Given the description of an element on the screen output the (x, y) to click on. 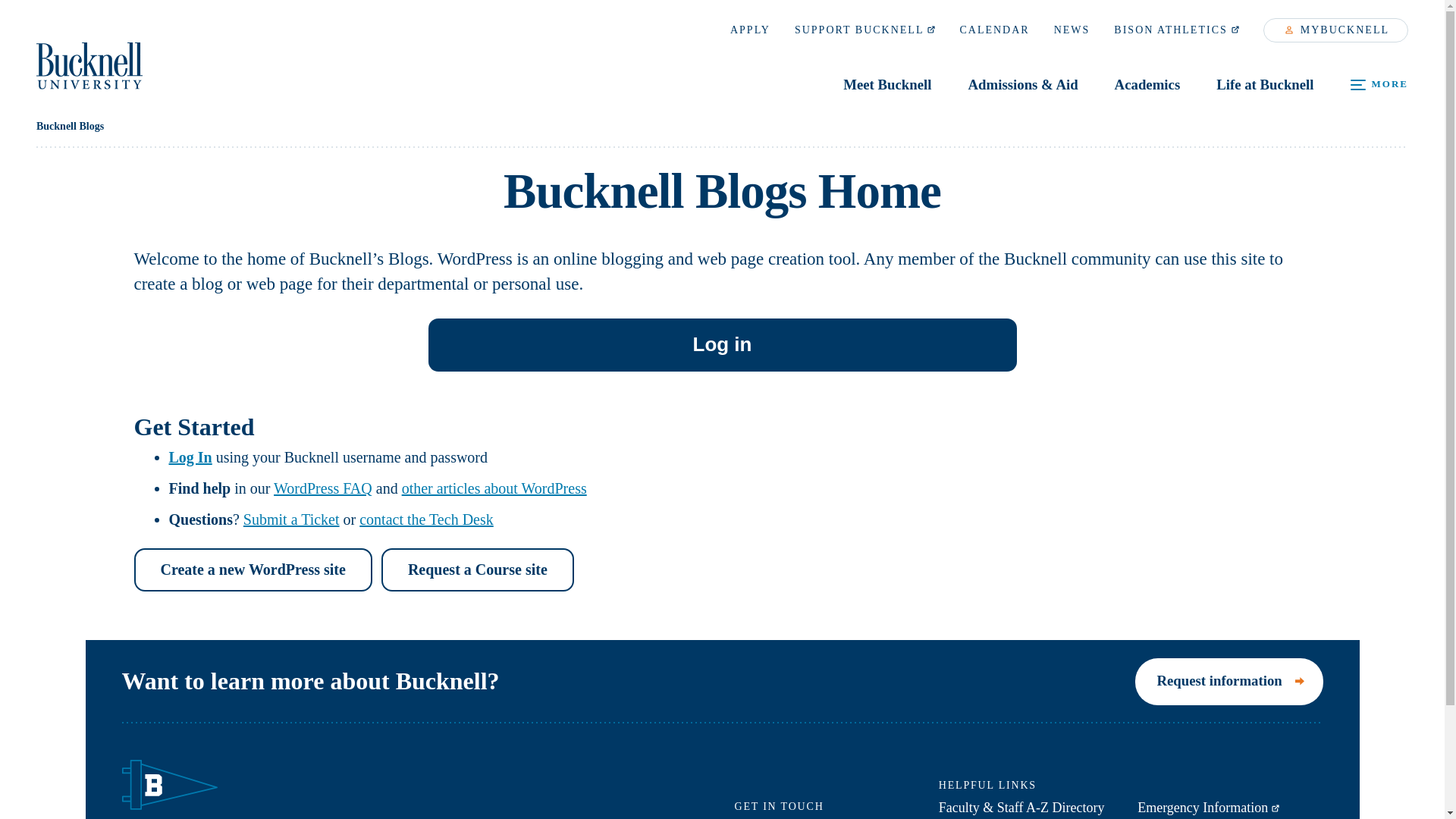
PERSON ICON (1288, 29)
Bucknell University (89, 65)
Life at Bucknell (1265, 86)
Arrow Icon (1299, 681)
Bucknell Flag Logo (168, 785)
Academics (1147, 86)
External Link Icon (89, 54)
EXTERNAL LINK ICON (1275, 808)
EXTERNAL LINK ICON (930, 29)
Meet Bucknell (1235, 29)
Skip to main content (887, 70)
